Given the description of an element on the screen output the (x, y) to click on. 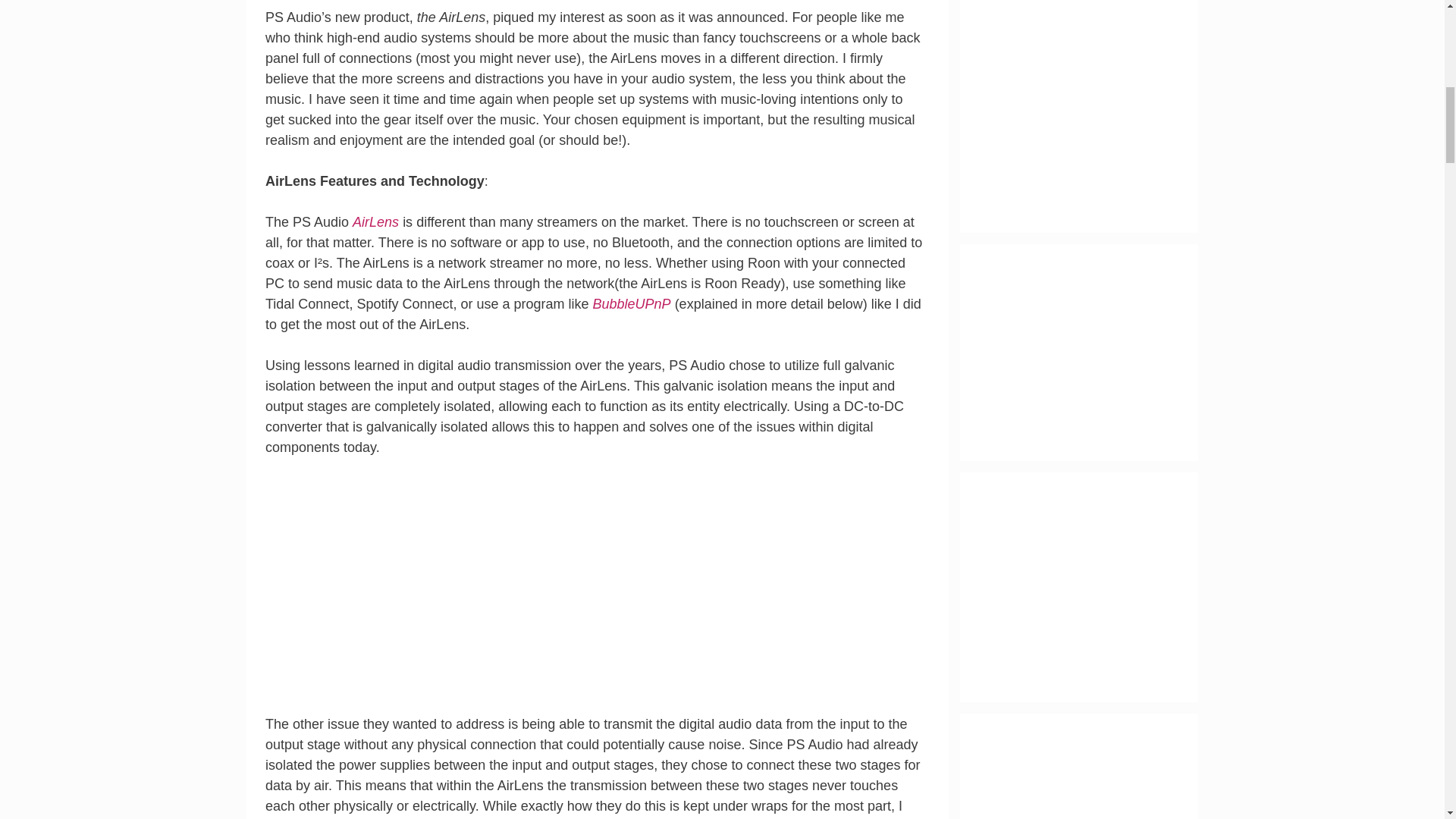
BubbleUPnP (631, 304)
Scroll back to top (1406, 720)
AirLens  (377, 222)
